Given the description of an element on the screen output the (x, y) to click on. 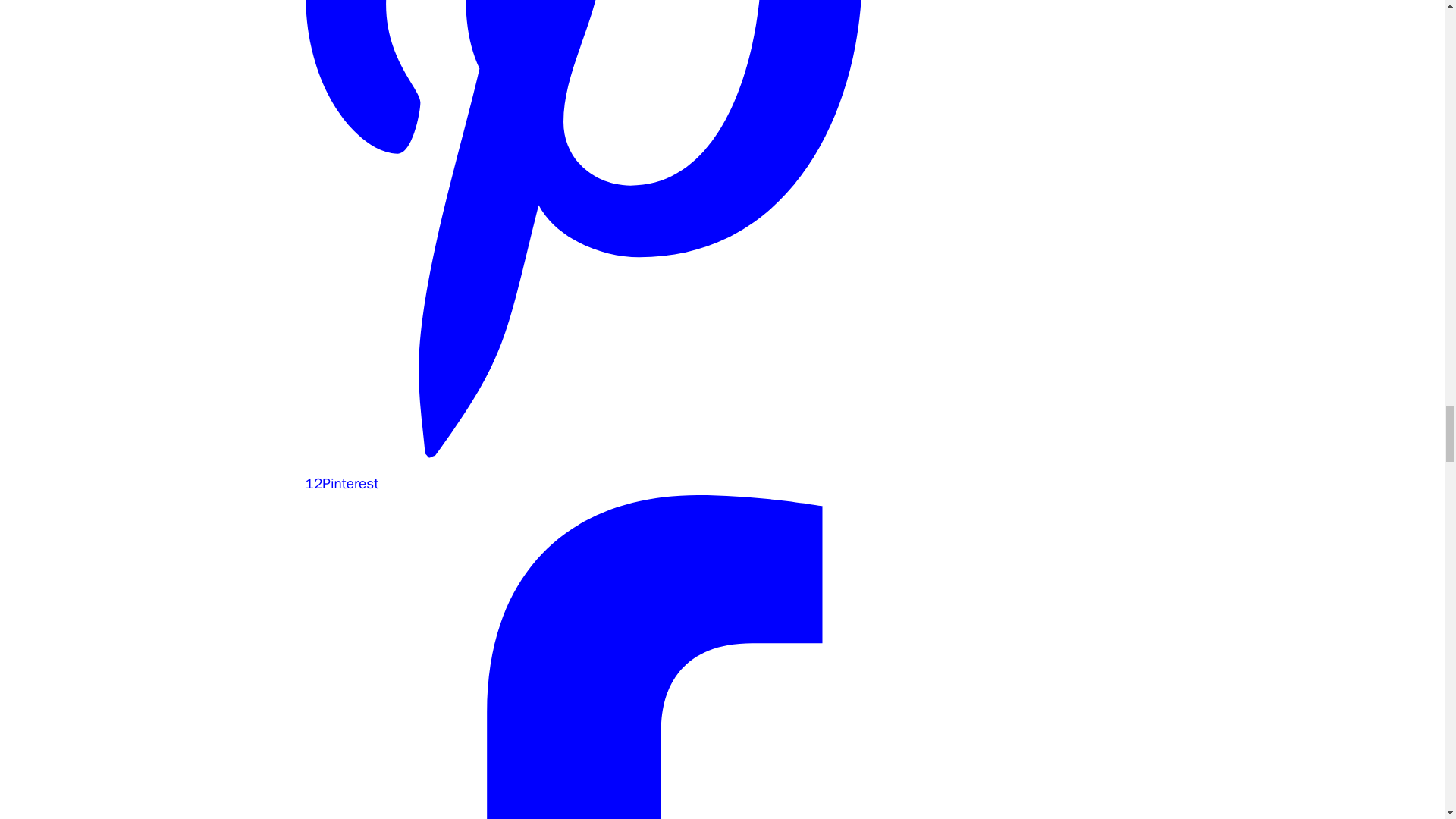
12Pinterest (582, 473)
